Given the description of an element on the screen output the (x, y) to click on. 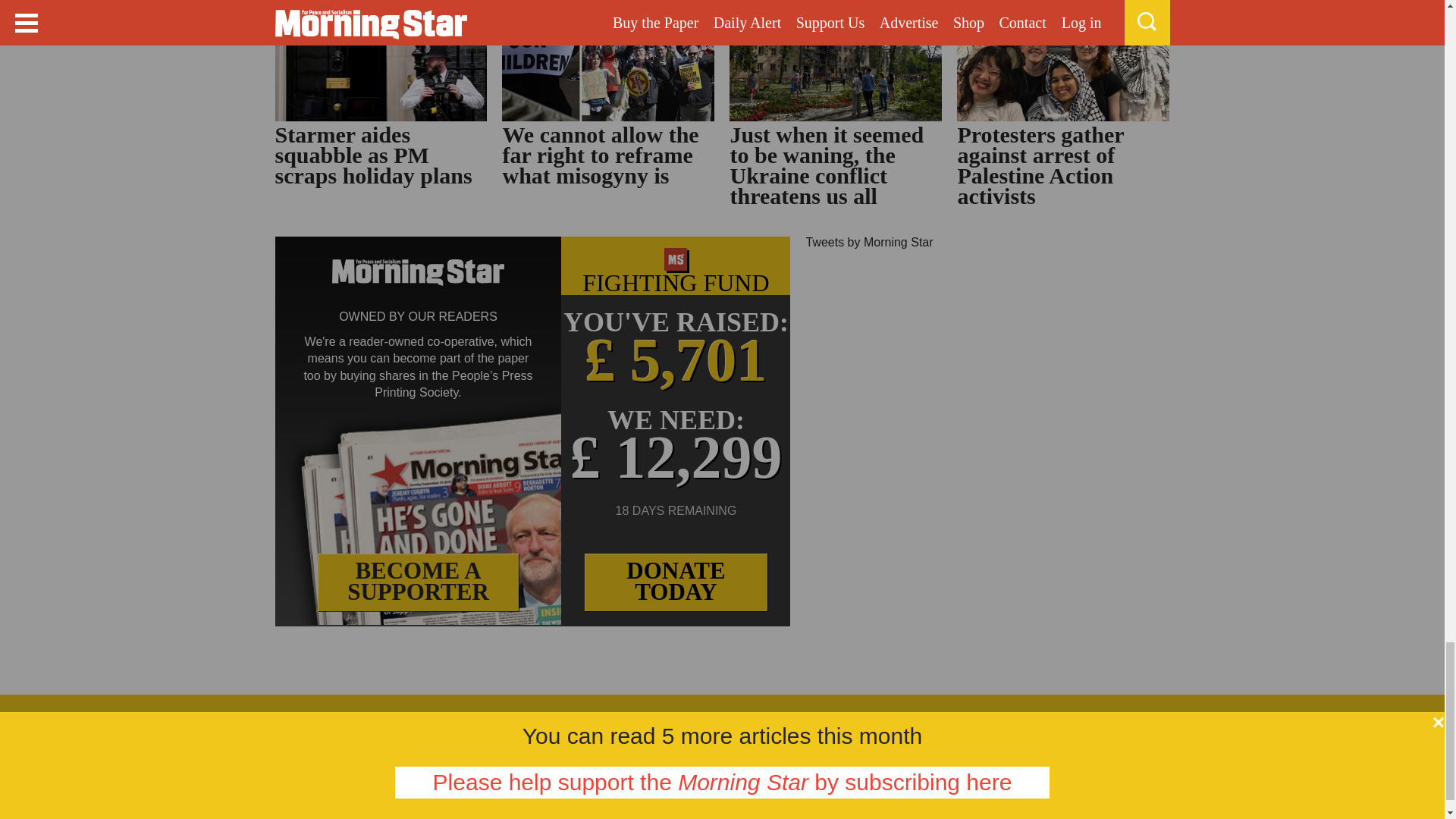
Sport (696, 720)
Culture (625, 720)
Features (454, 720)
World (377, 720)
Editorial (541, 720)
Britain (307, 720)
